Given the description of an element on the screen output the (x, y) to click on. 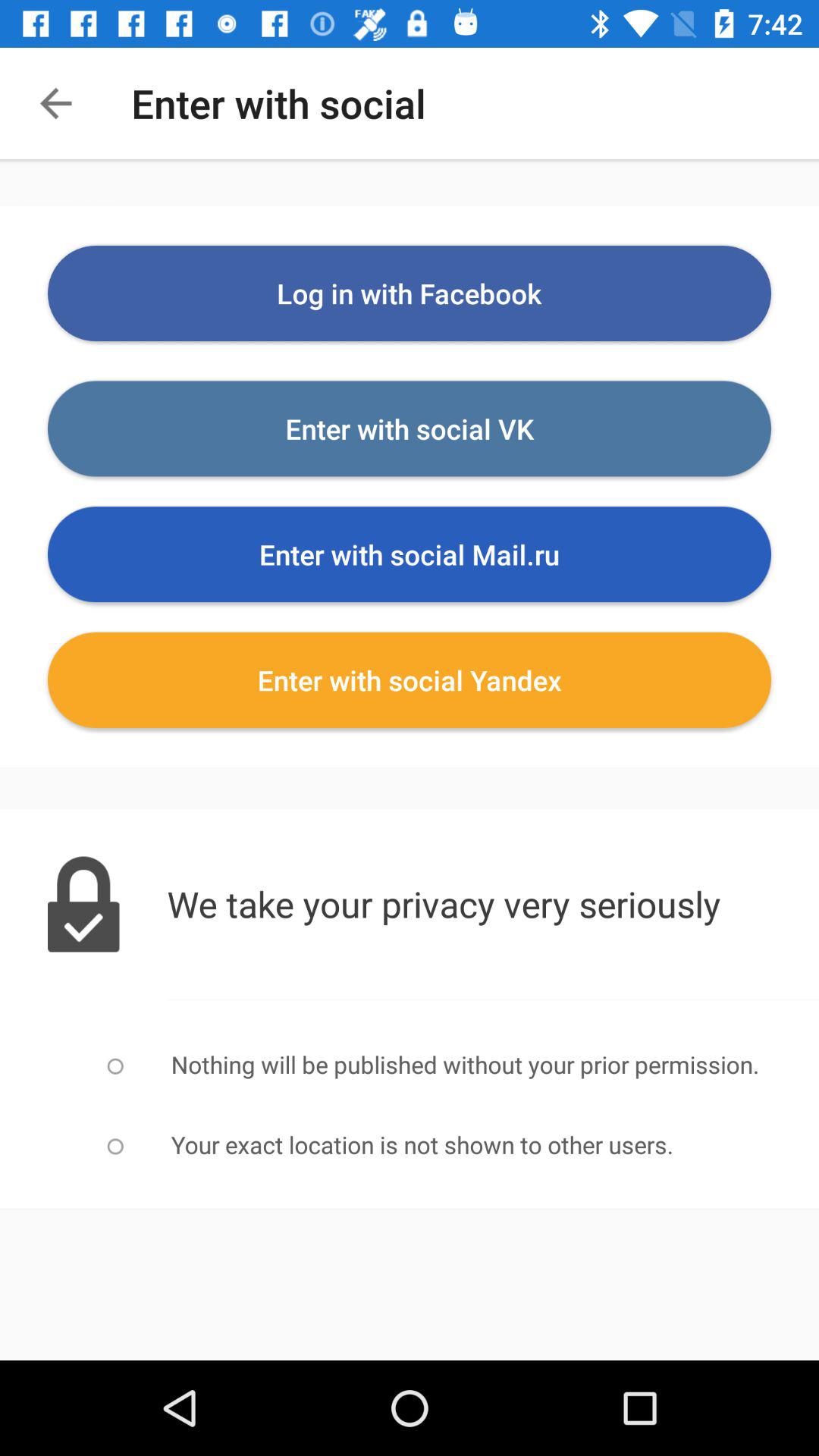
click on the option which is below login with facebook (409, 429)
click on option above yellow button (409, 554)
click on radio button which is beside the nothing will be published without your prior permission (115, 1066)
click on the icon log in with facebook (409, 293)
